Given the description of an element on the screen output the (x, y) to click on. 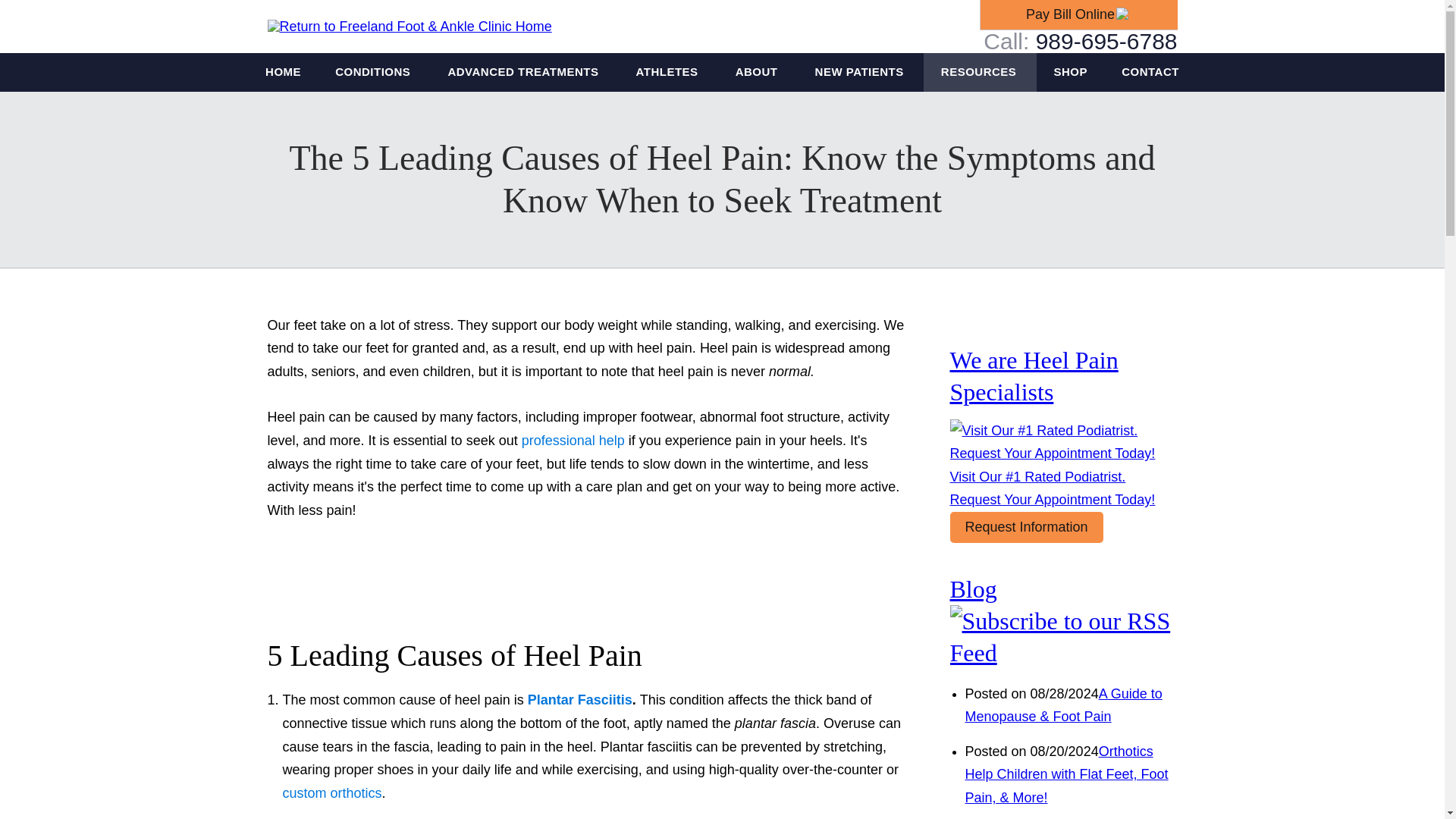
CONDITIONS (374, 72)
RESOURCES (979, 72)
NEW PATIENTS (860, 72)
Subscribe to our RSS Feed (1062, 652)
ADVANCED TREATMENTS (524, 72)
ABOUT (757, 72)
HOME (283, 72)
Pay Bill Online (1077, 14)
ATHLETES (667, 72)
